Given the description of an element on the screen output the (x, y) to click on. 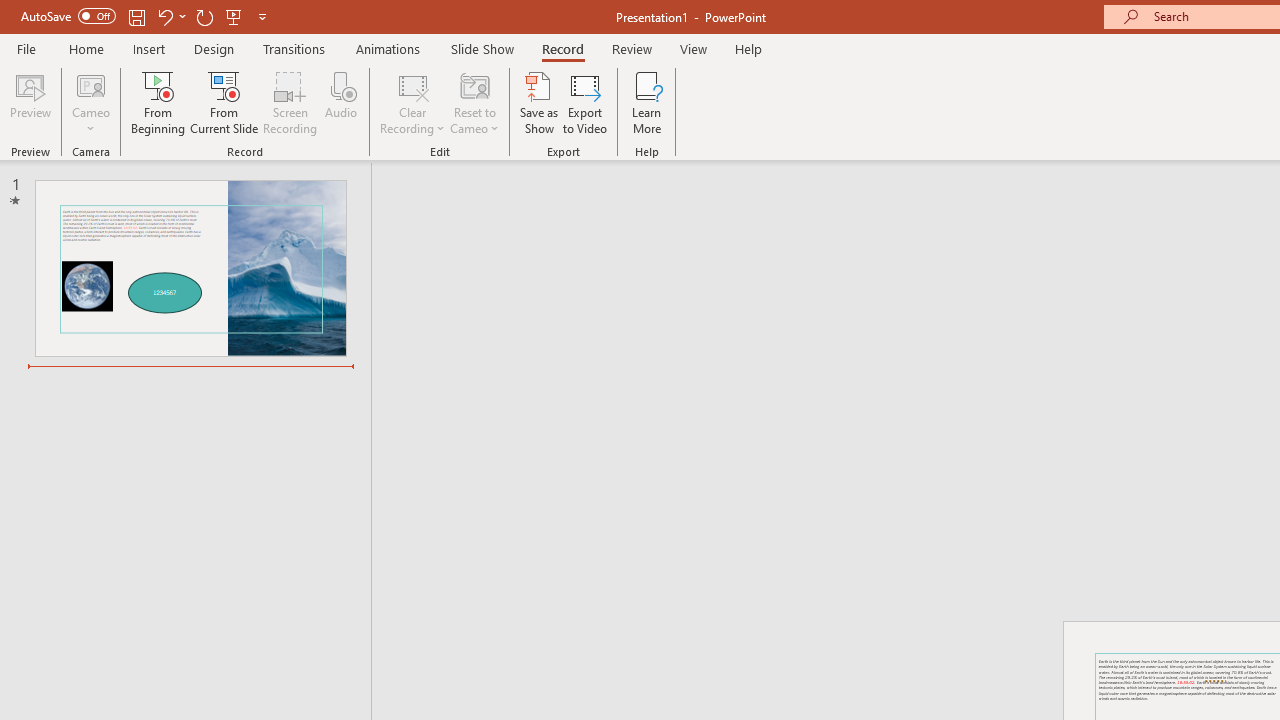
From Beginning (234, 15)
Animations (388, 48)
File Tab (26, 48)
Home (86, 48)
AutoSave (68, 16)
Cameo (91, 102)
Quick Access Toolbar (145, 16)
Undo (170, 15)
Clear Recording (412, 102)
Redo (204, 15)
Preview (30, 102)
Cameo (91, 84)
Insert (149, 48)
Export to Video (585, 102)
